Given the description of an element on the screen output the (x, y) to click on. 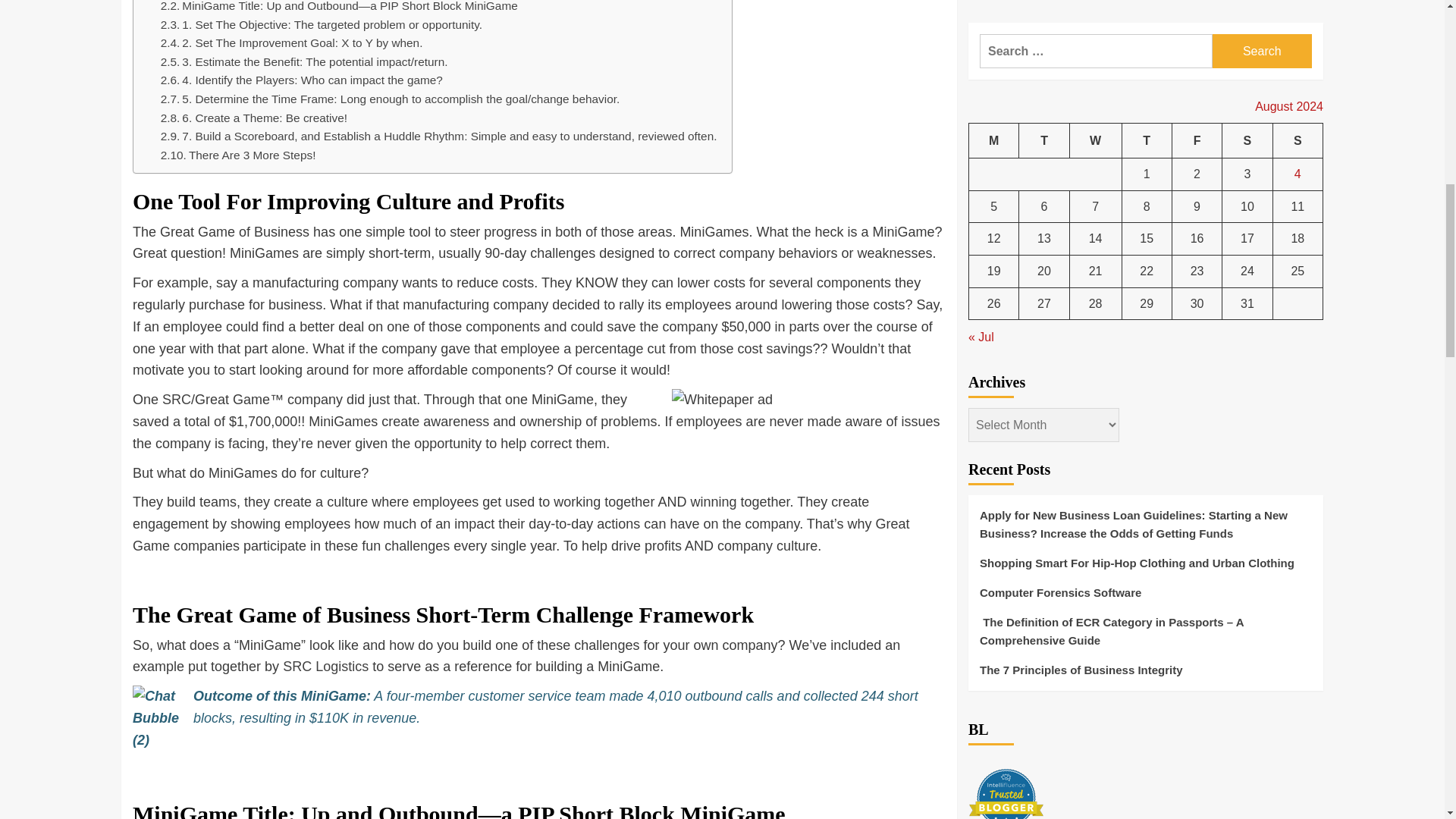
1. Set The Objective: The targeted problem or opportunity. (320, 25)
There Are 3 More Steps! (237, 155)
SRC (175, 399)
4. Identify the Players: Who can impact the game? (301, 80)
2. Set The Improvement Goal: X to Y by when. (291, 43)
2. Set The Improvement Goal: X to Y by when. (291, 43)
6. Create a Theme: Be creative! (253, 117)
SRC Logistics (325, 666)
